Given the description of an element on the screen output the (x, y) to click on. 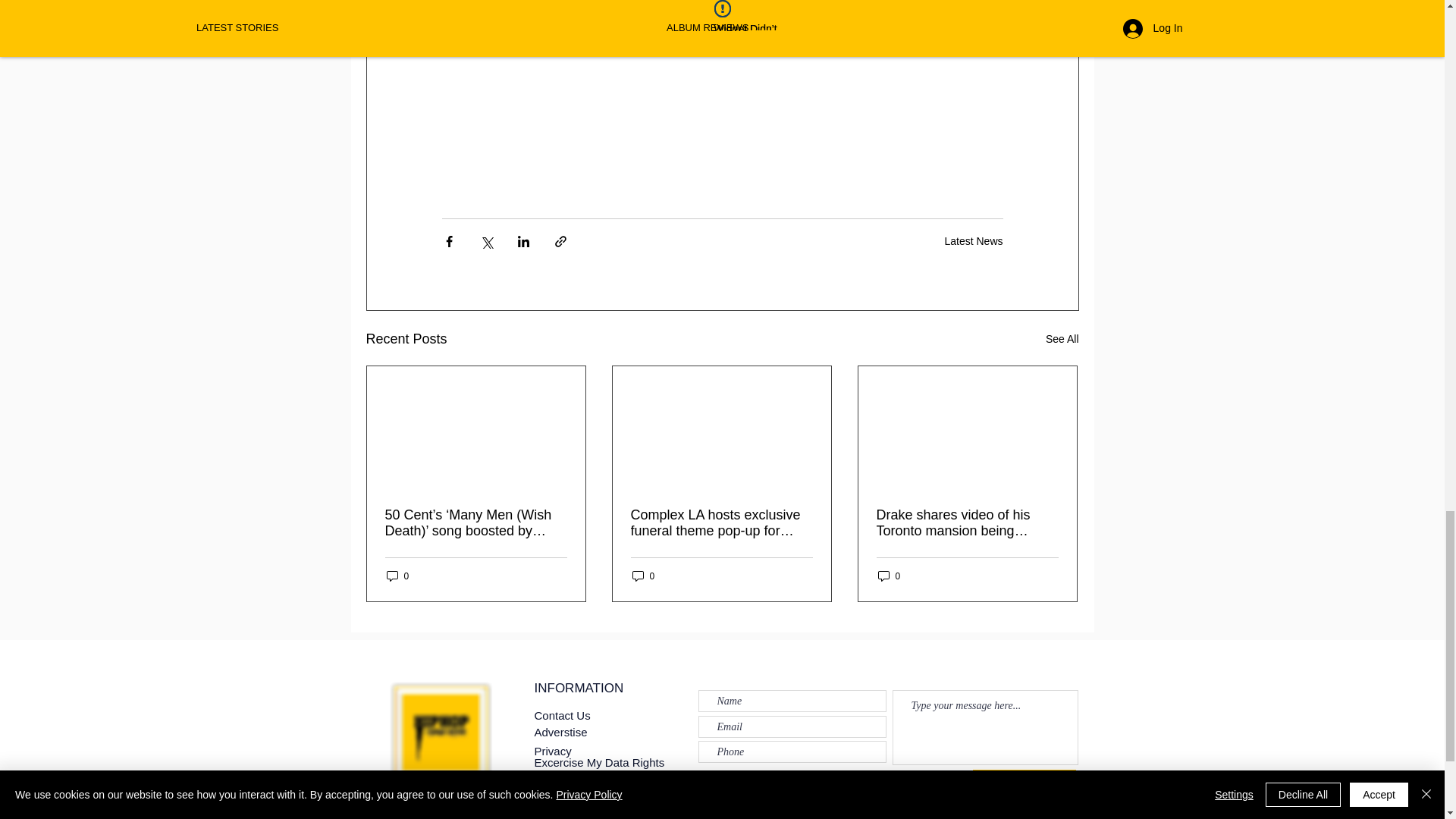
0 (643, 575)
SUBMIT (1023, 782)
0 (397, 575)
Latest News (973, 241)
See All (1061, 339)
remote content (722, 62)
0 (889, 575)
